Given the description of an element on the screen output the (x, y) to click on. 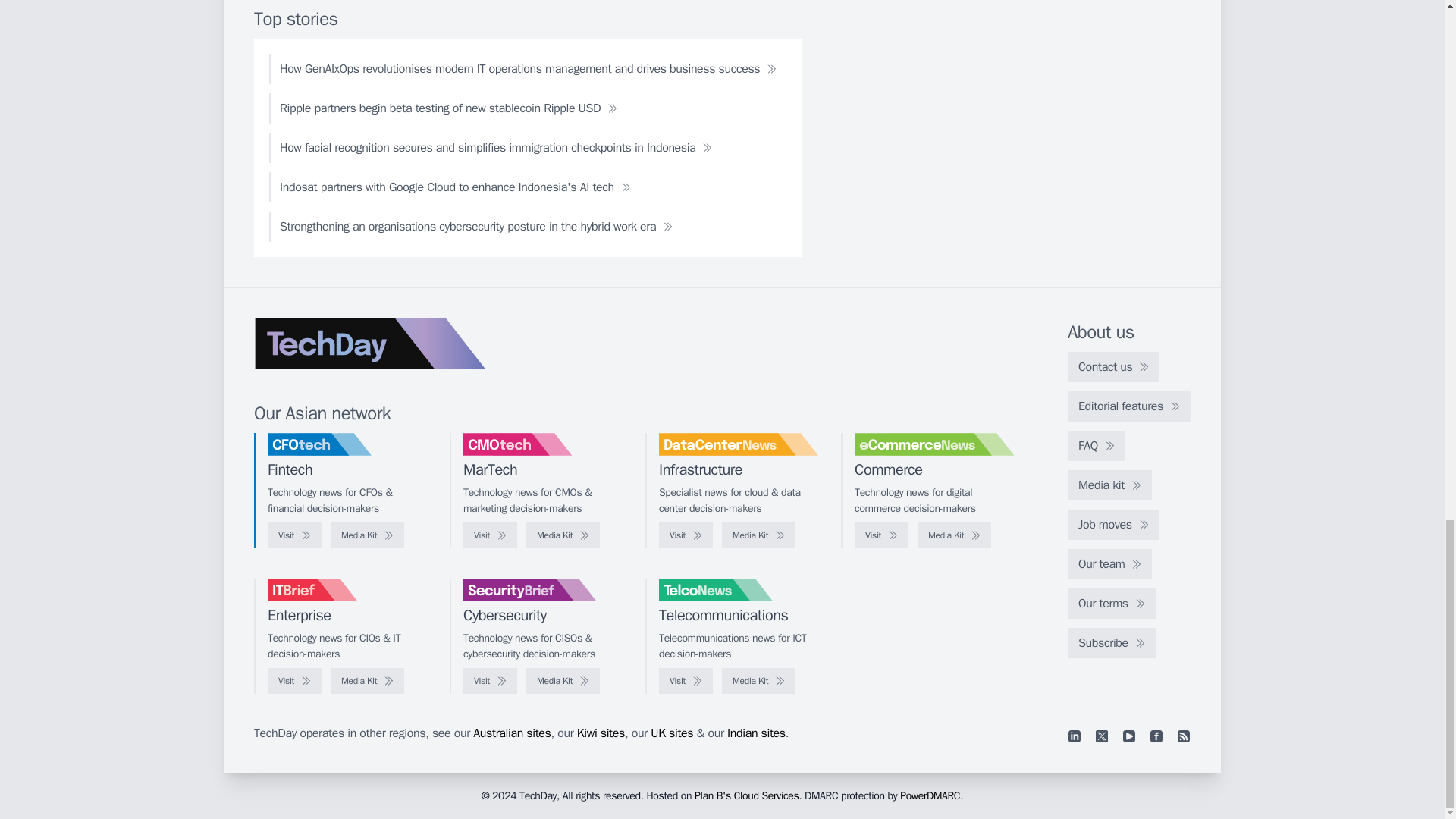
Visit (686, 534)
Visit (489, 534)
Media Kit (562, 534)
Media Kit (367, 534)
Media Kit (954, 534)
Visit (881, 534)
